Given the description of an element on the screen output the (x, y) to click on. 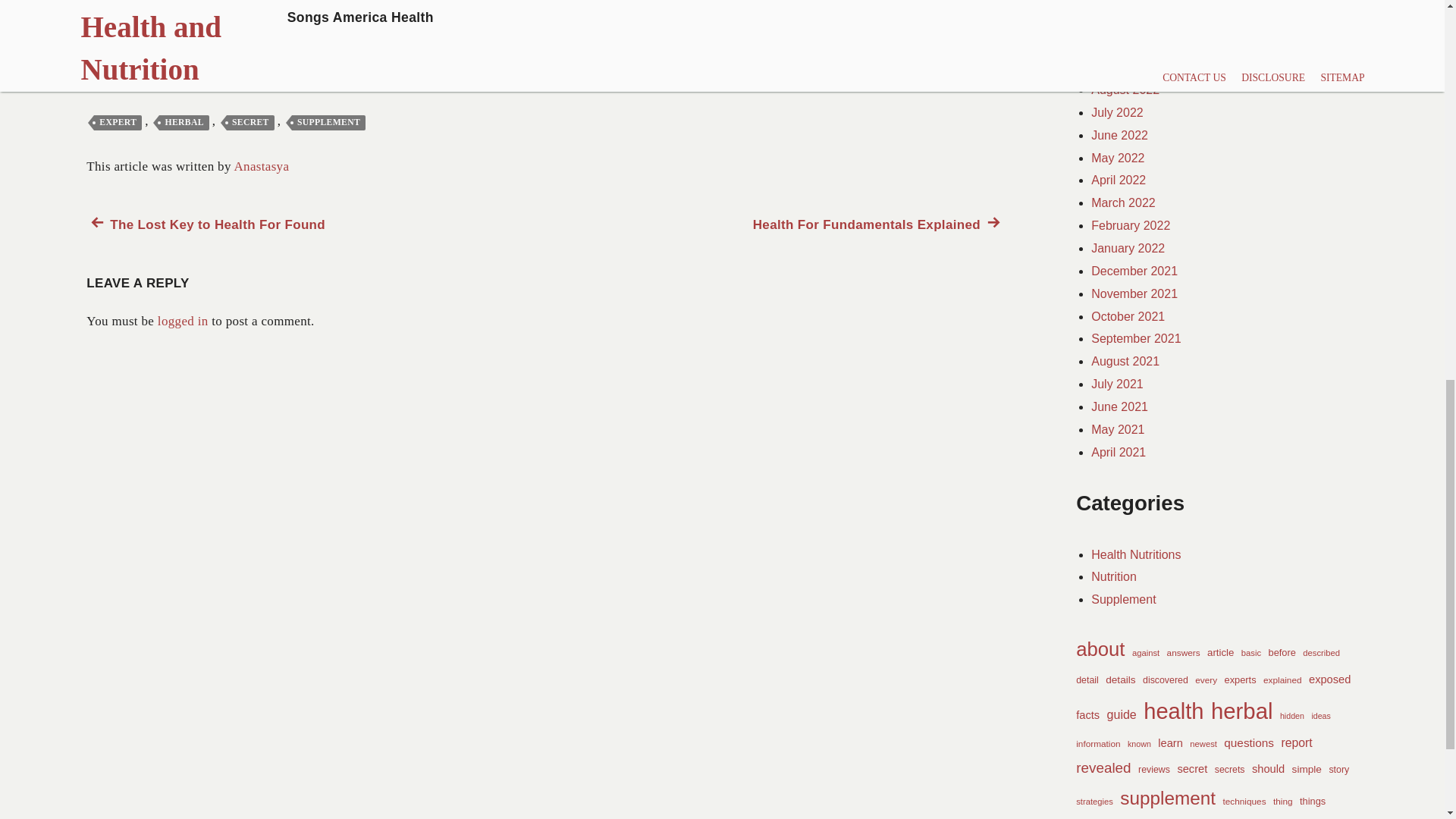
EXPERT (117, 123)
SECRET (251, 123)
SUPPLEMENT (878, 224)
HERBAL (328, 123)
Anastasya (183, 123)
logged in (260, 165)
